Given the description of an element on the screen output the (x, y) to click on. 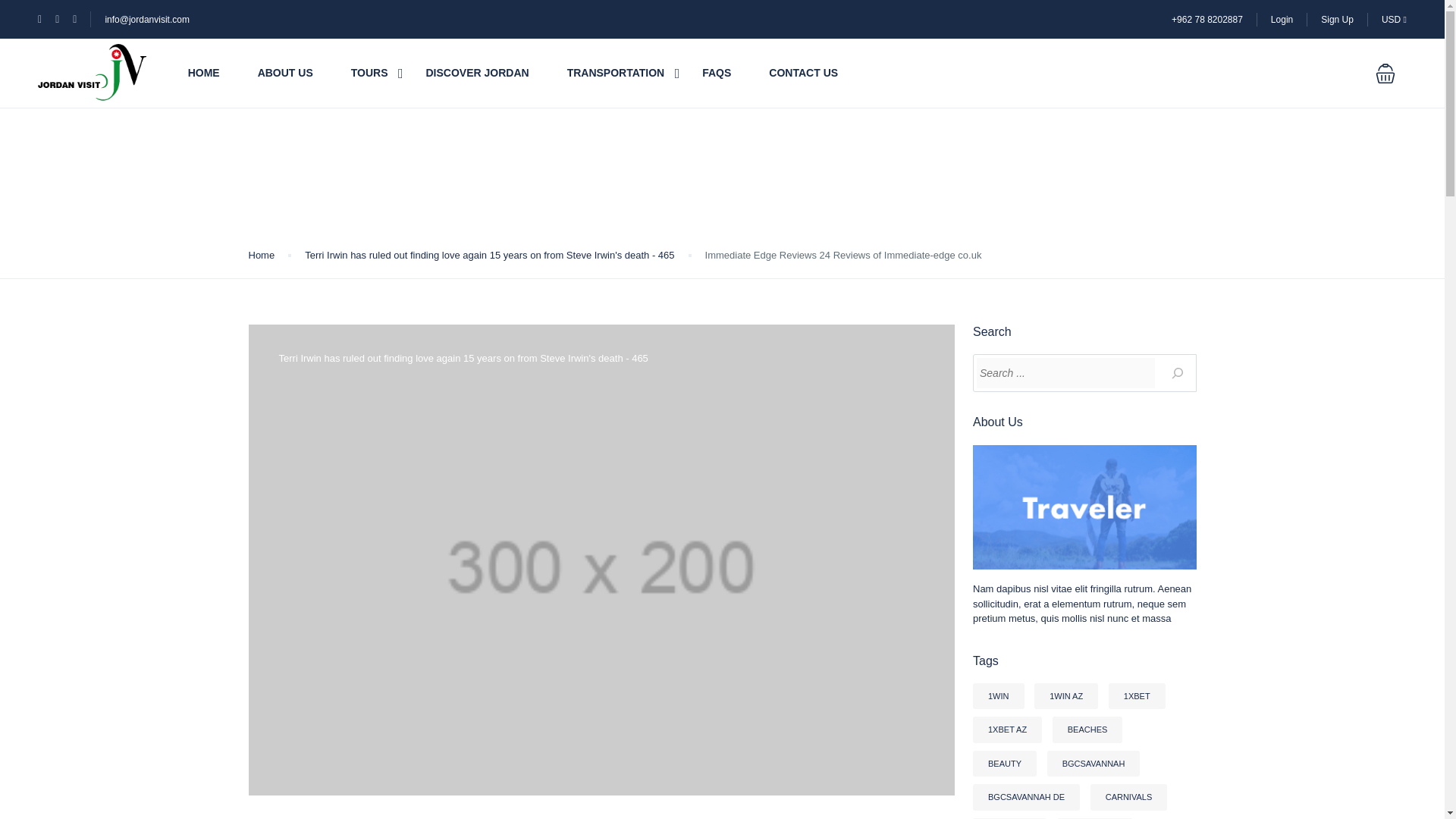
Home (261, 254)
FAQS (715, 72)
TOURS (369, 72)
DISCOVER JORDAN (476, 72)
Login (1281, 18)
USD (1393, 18)
TRANSPORTATION (616, 72)
Sign Up (1337, 18)
ABOUT US (284, 72)
HOME (203, 72)
CONTACT US (803, 72)
